Given the description of an element on the screen output the (x, y) to click on. 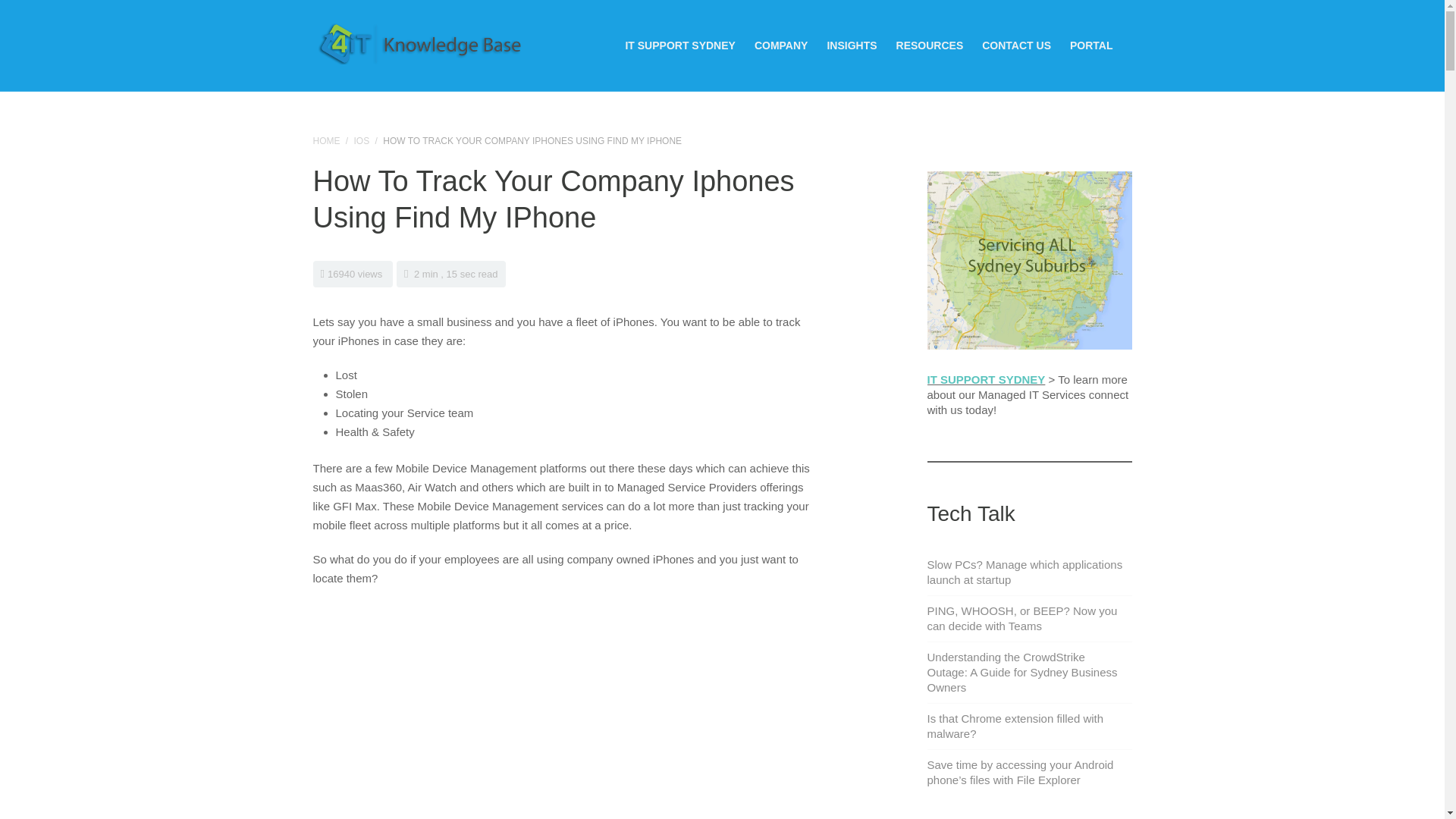
IOS (361, 140)
HOME (326, 140)
IT Knowledgebase (326, 140)
IT Knowledgebase (421, 41)
IT SUPPORT SYDNEY (679, 45)
IT Knowledgebase (421, 43)
